Given the description of an element on the screen output the (x, y) to click on. 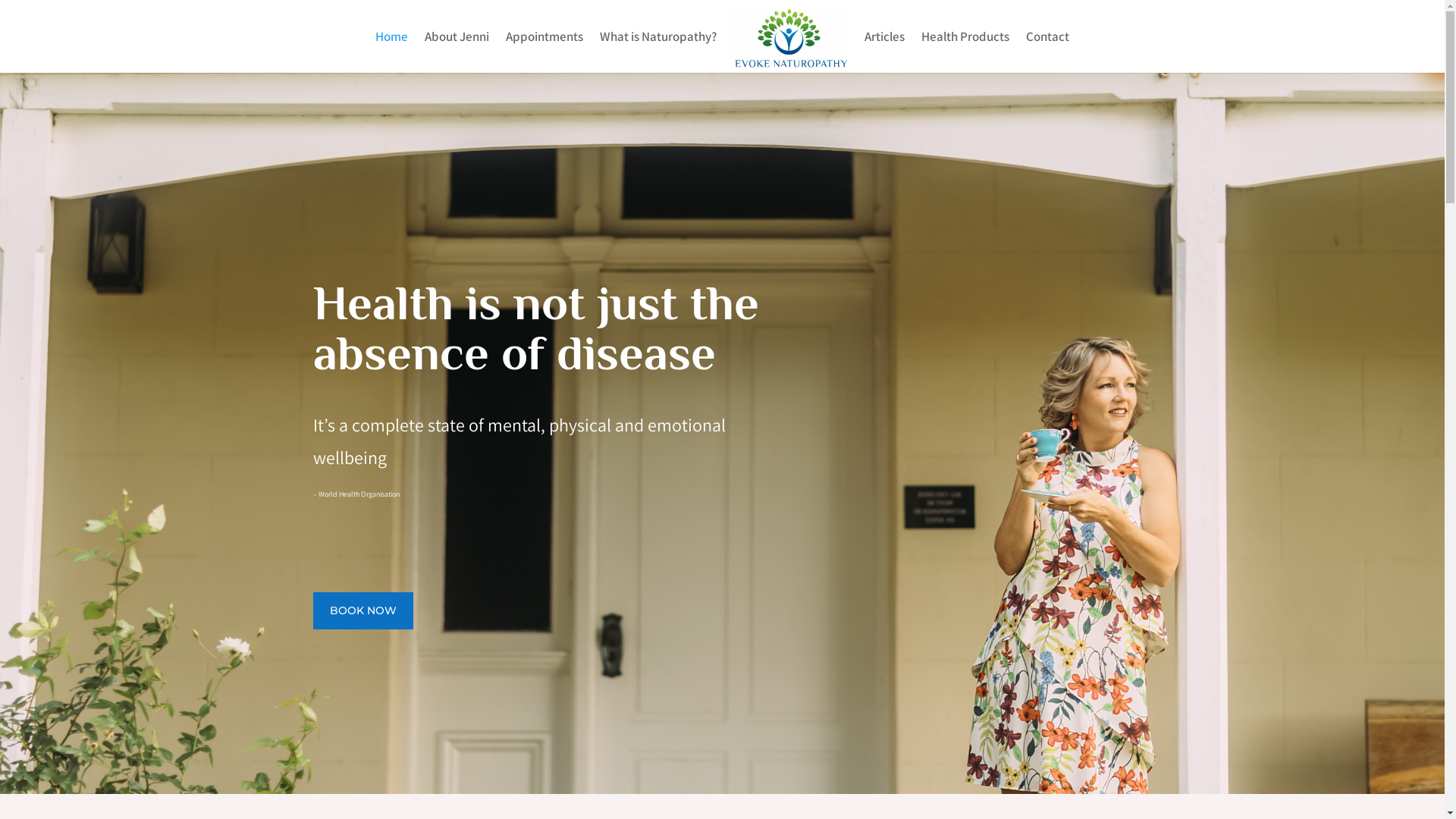
Contact Element type: text (1047, 51)
Health Products Element type: text (965, 51)
BOOK NOW Element type: text (362, 610)
What is Naturopathy? Element type: text (657, 51)
About Jenni Element type: text (456, 51)
Home Element type: text (391, 51)
Articles Element type: text (884, 51)
Appointments Element type: text (544, 51)
